Given the description of an element on the screen output the (x, y) to click on. 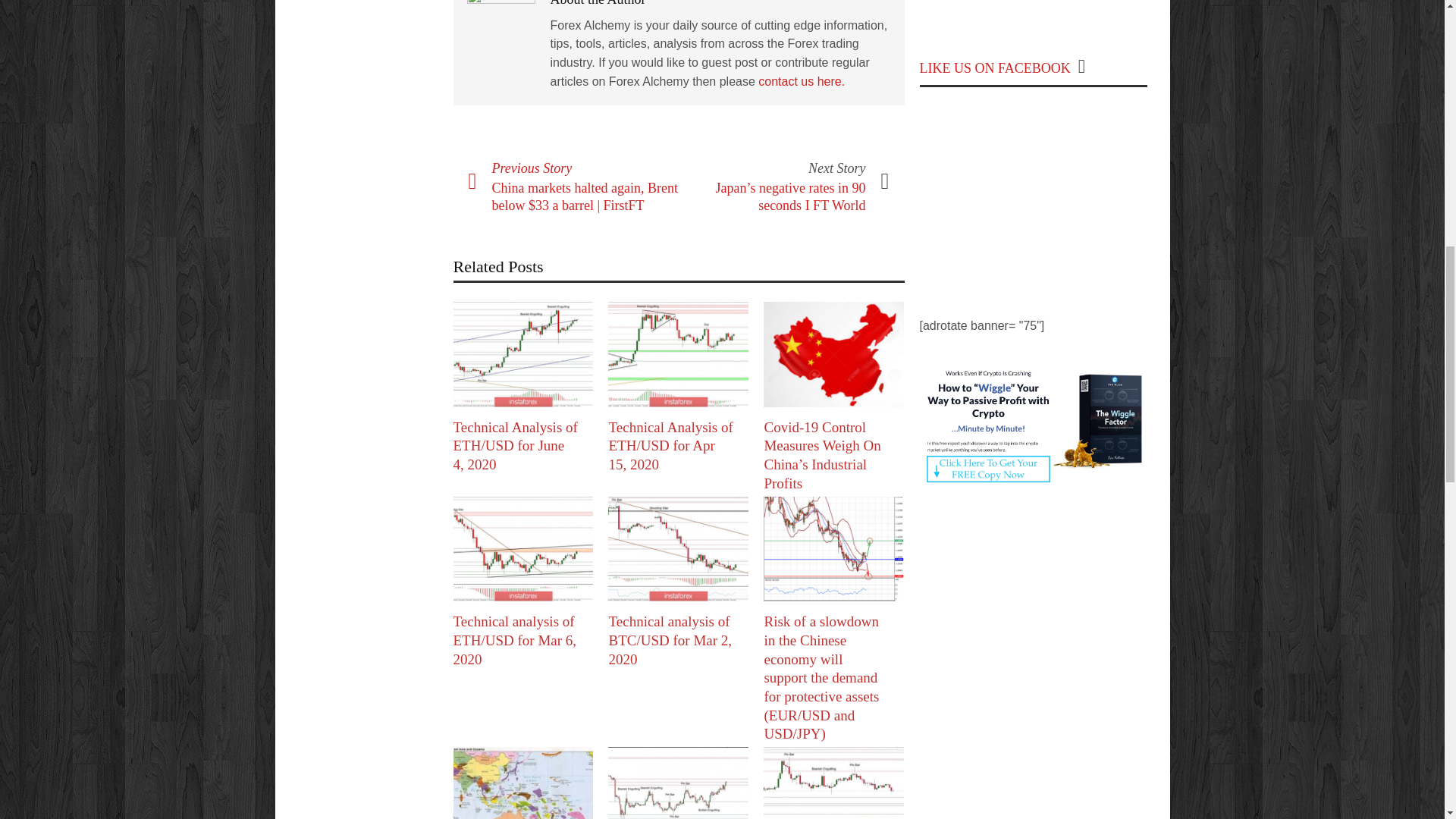
InstaForex is an universal Forex portal for traders (1032, 11)
